Given the description of an element on the screen output the (x, y) to click on. 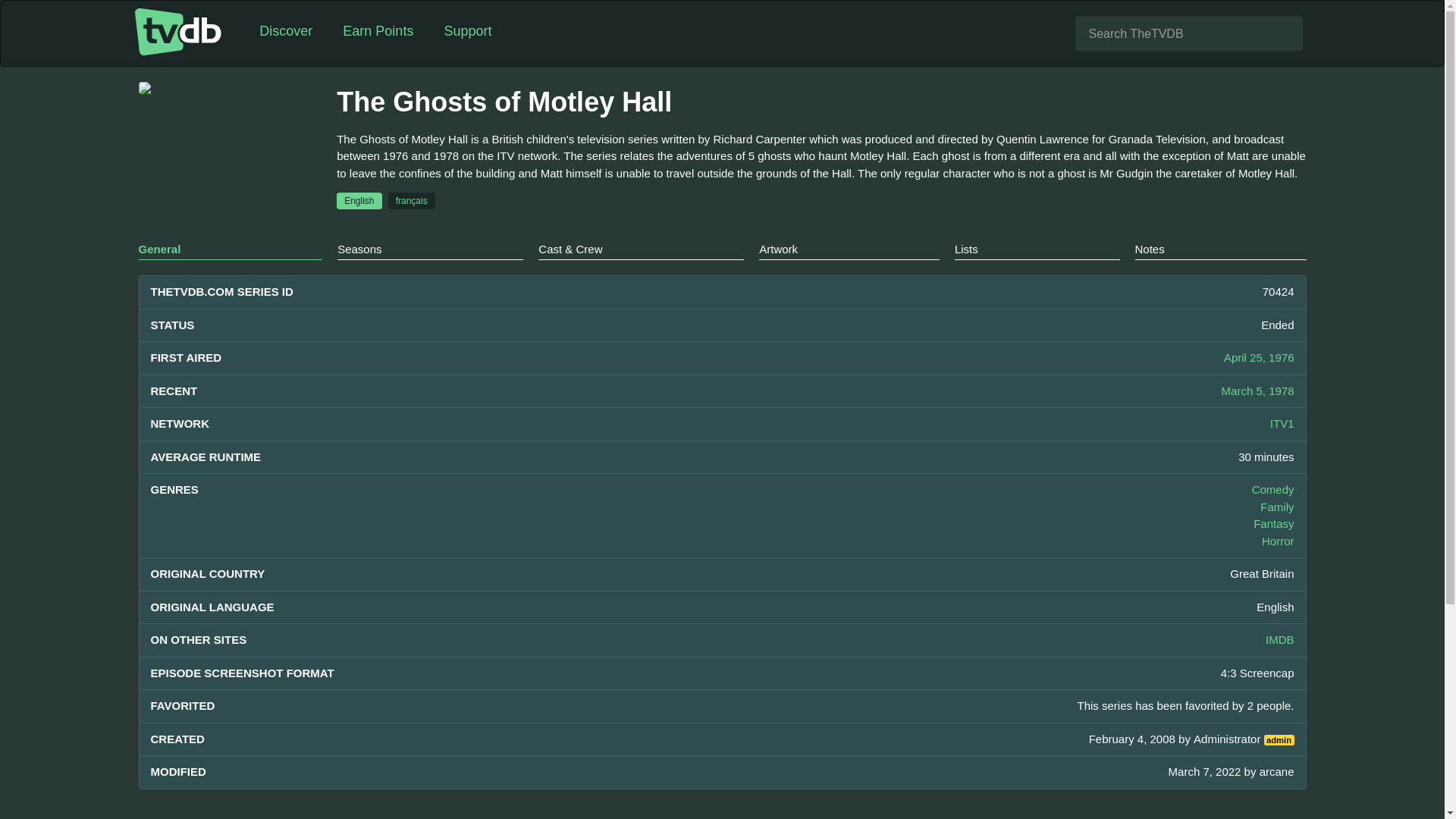
Discover (285, 31)
Support (467, 31)
Earn Points (377, 31)
